Given the description of an element on the screen output the (x, y) to click on. 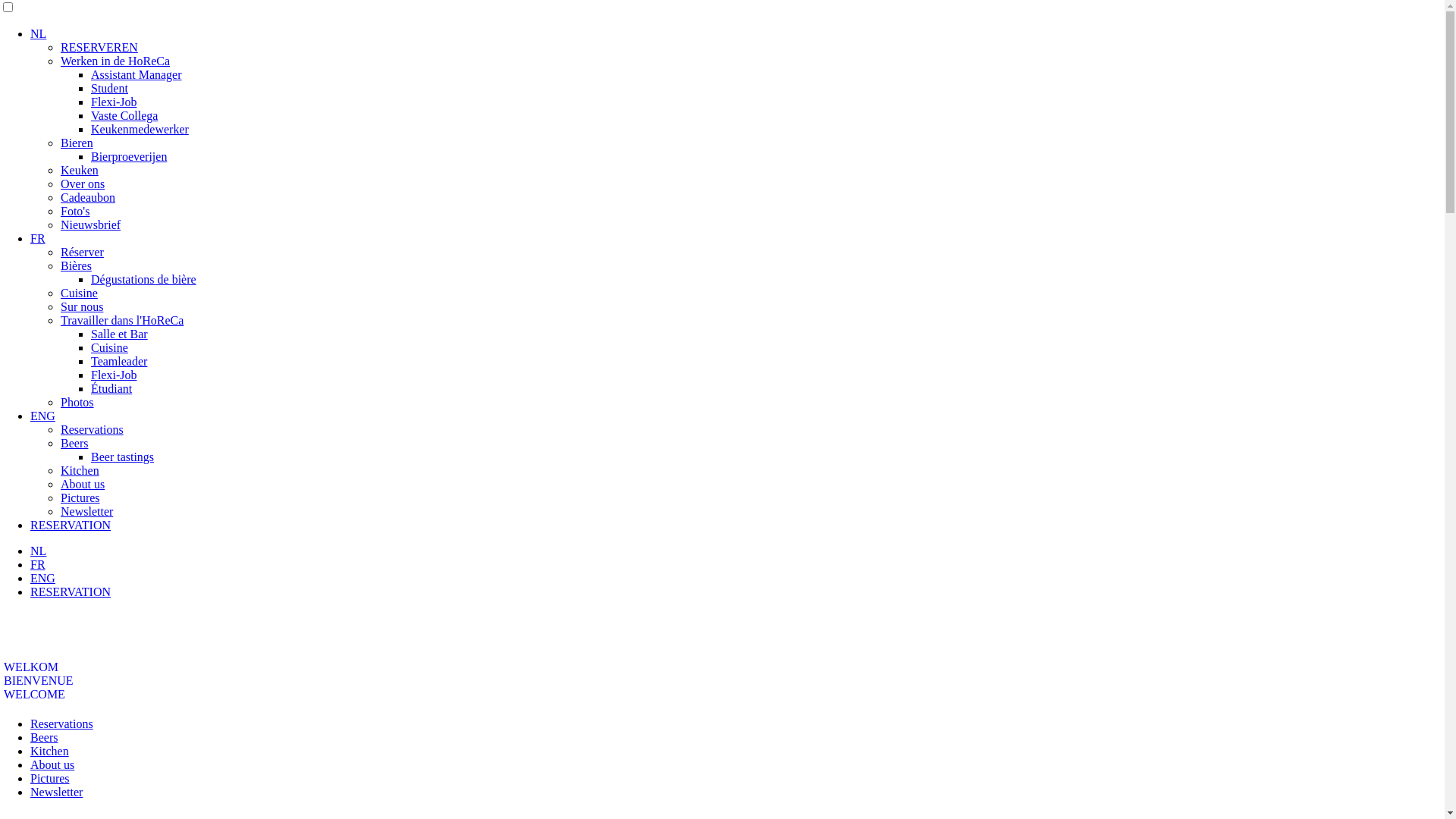
Pictures Element type: text (49, 777)
Vaste Collega Element type: text (124, 115)
Newsletter Element type: text (86, 511)
Cuisine Element type: text (109, 347)
Cuisine Element type: text (78, 292)
Over ons Element type: text (82, 183)
NL Element type: text (38, 550)
Kitchen Element type: text (49, 750)
ENG Element type: text (42, 415)
Pictures Element type: text (80, 497)
ENG Element type: text (42, 577)
RESERVATION Element type: text (70, 524)
Beers Element type: text (73, 442)
About us Element type: text (52, 764)
RESERVATION Element type: text (70, 591)
Newsletter Element type: text (56, 791)
Travailler dans l'HoReCa Element type: text (121, 319)
FR Element type: text (37, 564)
NL Element type: text (38, 33)
Keukenmedewerker Element type: text (139, 128)
Beers Element type: text (43, 737)
Bieren Element type: text (76, 142)
Kitchen Element type: text (79, 470)
RESERVEREN Element type: text (99, 46)
About us Element type: text (82, 483)
Beer tastings Element type: text (122, 456)
Keuken Element type: text (79, 169)
Sur nous Element type: text (81, 306)
Foto's Element type: text (74, 210)
Student Element type: text (109, 87)
WELKOM
BIENVENUE
WELCOME Element type: text (38, 680)
Flexi-Job Element type: text (113, 101)
Reservations Element type: text (61, 723)
Reservations Element type: text (91, 429)
FR Element type: text (37, 238)
Assistant Manager Element type: text (136, 74)
Photos Element type: text (77, 401)
Salle et Bar Element type: text (119, 333)
Flexi-Job Element type: text (113, 374)
Nieuwsbrief Element type: text (90, 224)
Teamleader Element type: text (119, 360)
Bierproeverijen Element type: text (128, 156)
Cadeaubon Element type: text (87, 197)
Werken in de HoReCa Element type: text (114, 60)
